Given the description of an element on the screen output the (x, y) to click on. 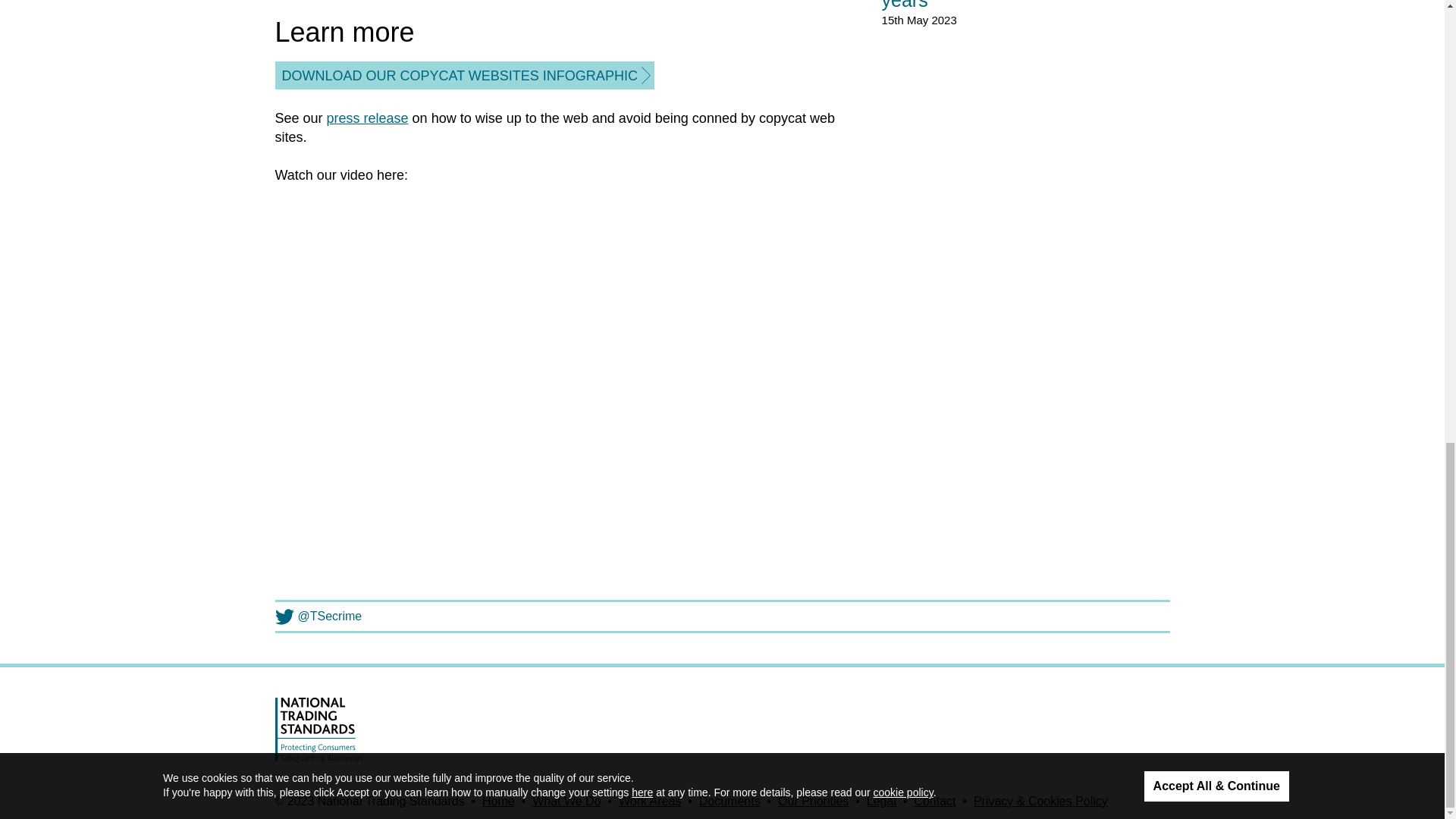
DOWNLOAD OUR COPYCAT WEBSITES INFOGRAPHIC (464, 75)
press release (367, 118)
Work Areas (649, 800)
Home (498, 800)
What We Do (565, 800)
